Given the description of an element on the screen output the (x, y) to click on. 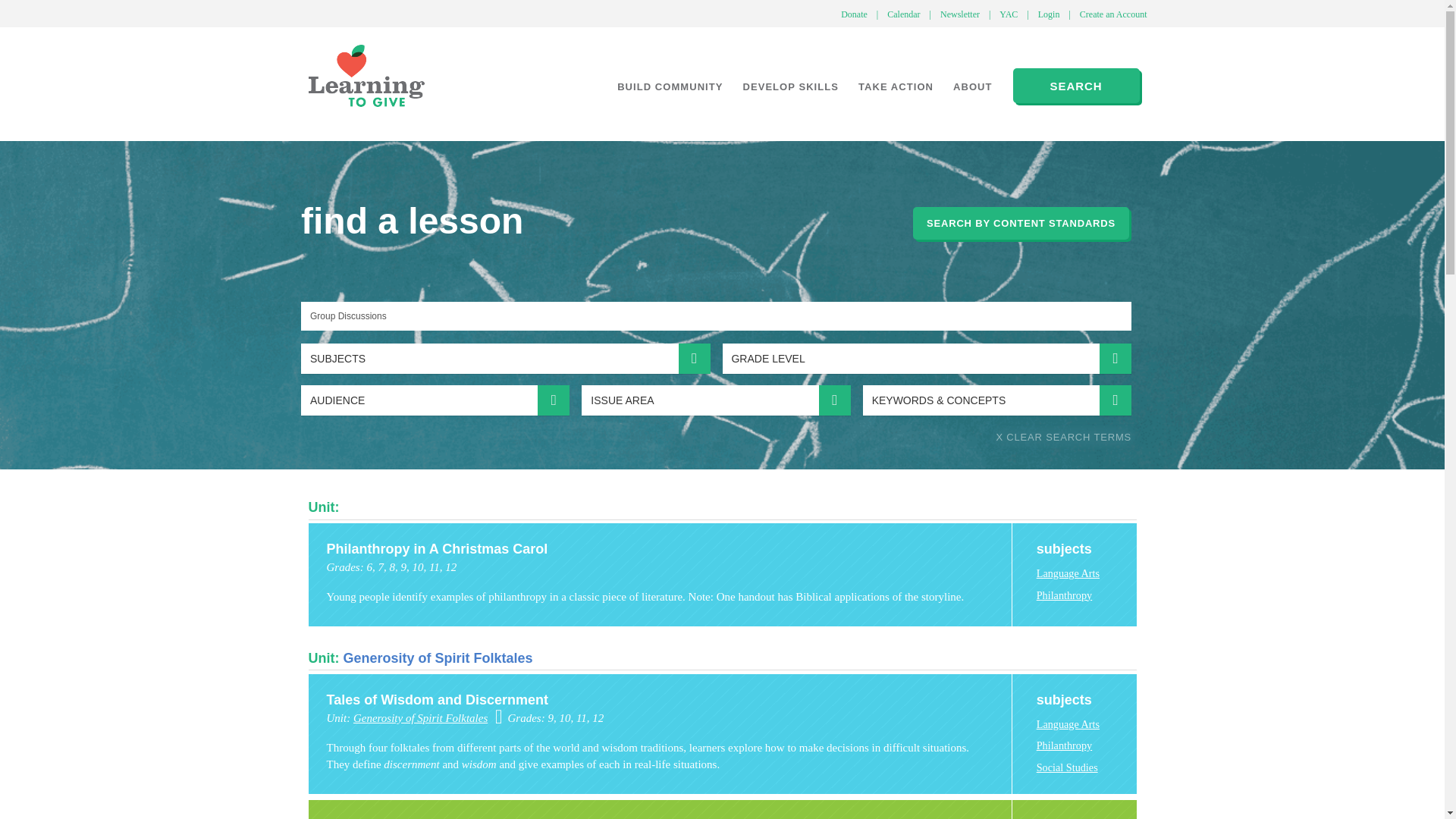
Newsletter (960, 14)
Donate (853, 14)
Click on "About" to learn more about Learning to Give (973, 86)
Search (1093, 357)
AUDIENCE (435, 399)
Submit (34, 15)
TAKE ACTION (895, 86)
SEARCH BY CONTENT STANDARDS (1020, 223)
Guidance on service that makes a difference (895, 86)
DEVELOP SKILLS (790, 86)
Learn more about philanthropy and civics (790, 86)
Create an Account (1113, 14)
Activities to identify interests and community needs (669, 86)
ISSUE AREA (715, 399)
BUILD COMMUNITY (669, 86)
